Given the description of an element on the screen output the (x, y) to click on. 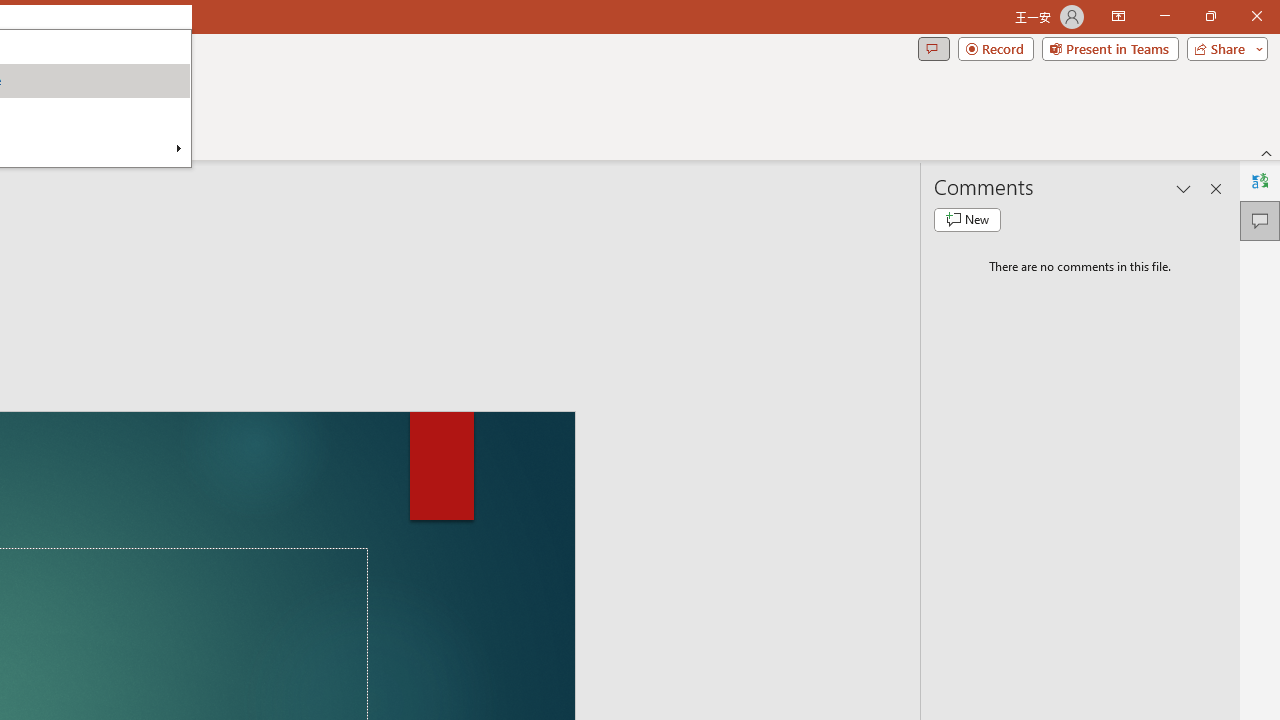
New comment (967, 219)
